Given the description of an element on the screen output the (x, y) to click on. 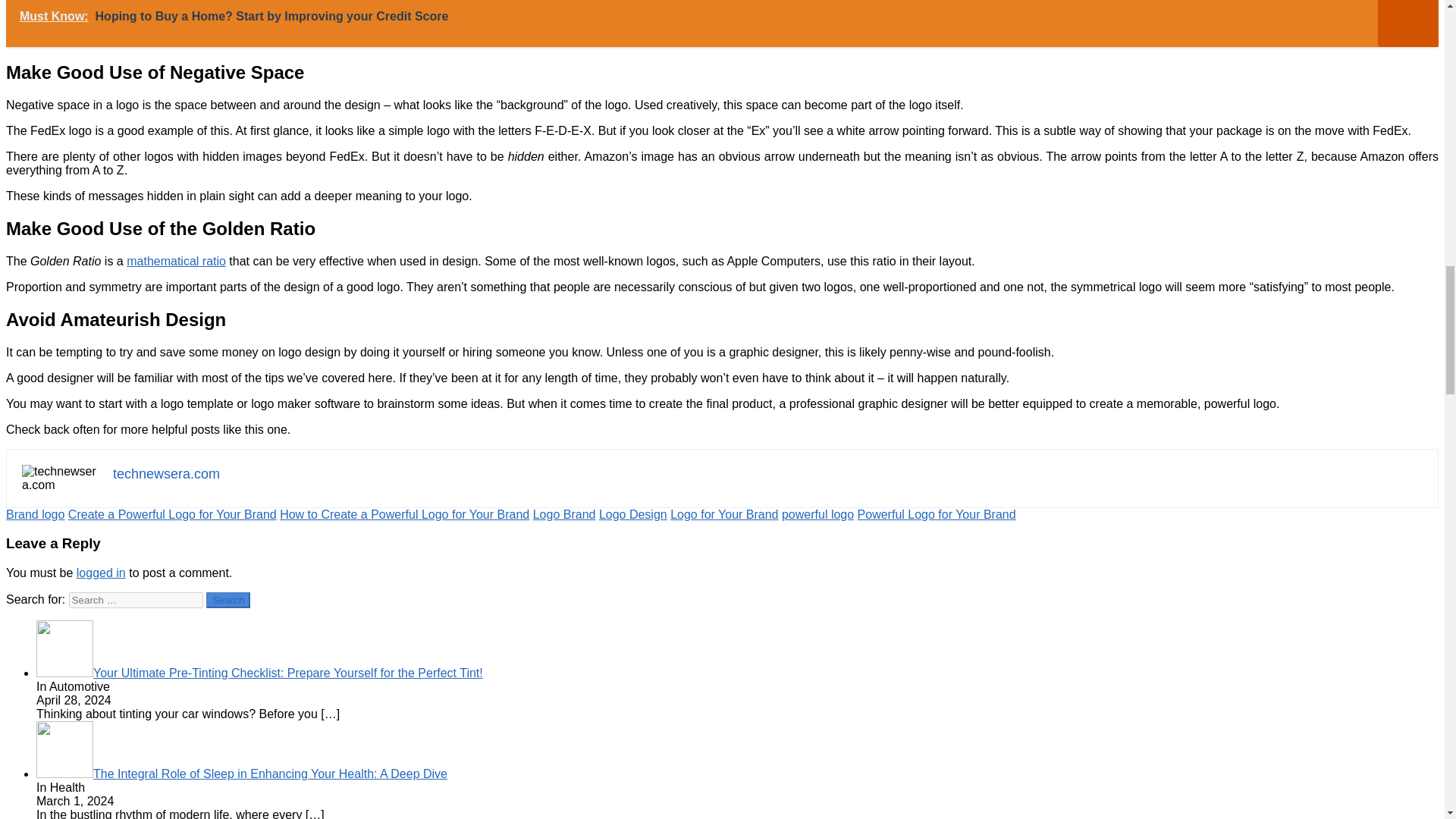
Search (228, 600)
Search (228, 600)
